Given the description of an element on the screen output the (x, y) to click on. 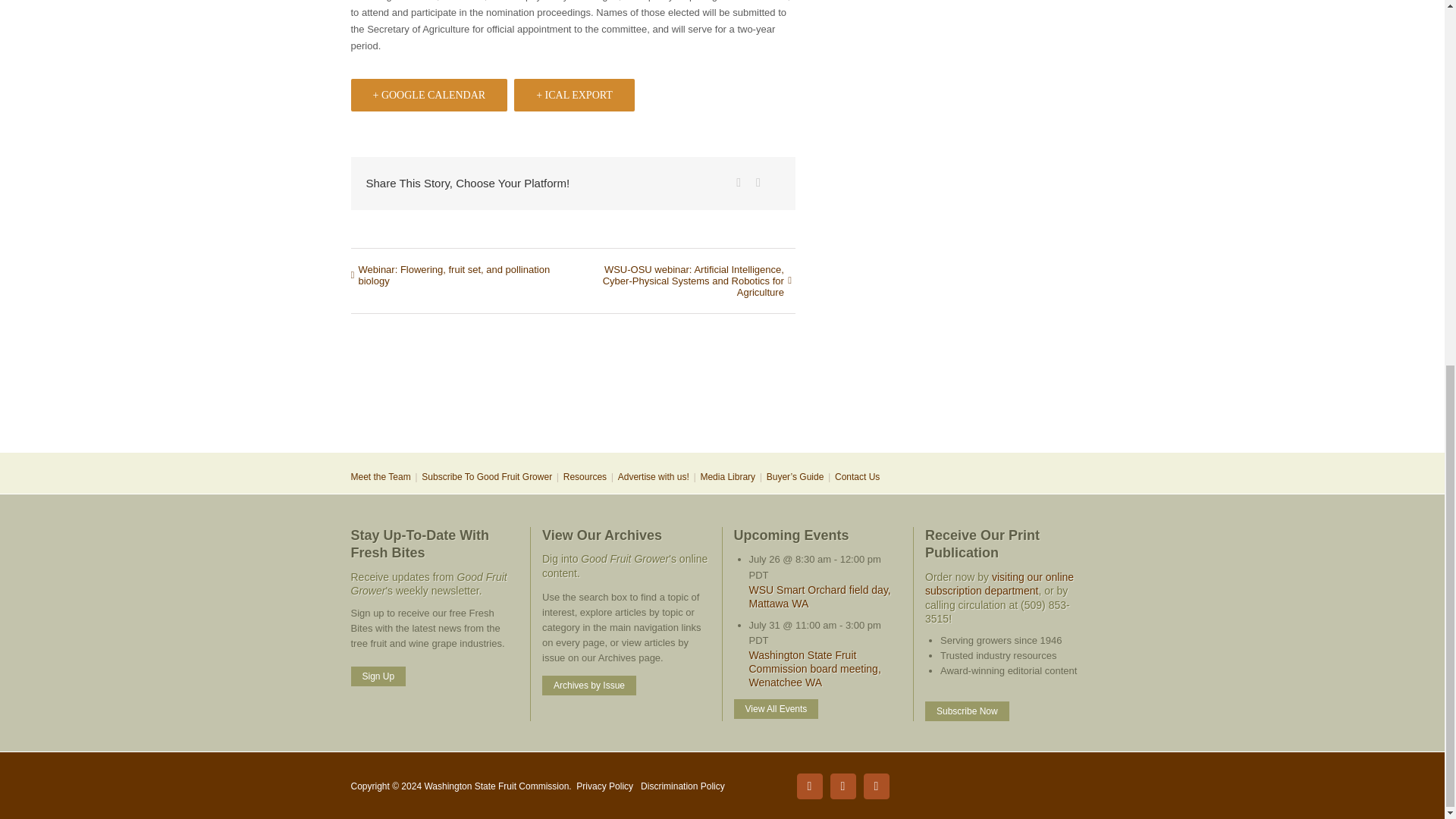
3rd party ad content (721, 402)
Download .ics file (573, 94)
Add to Google Calendar (428, 94)
